Given the description of an element on the screen output the (x, y) to click on. 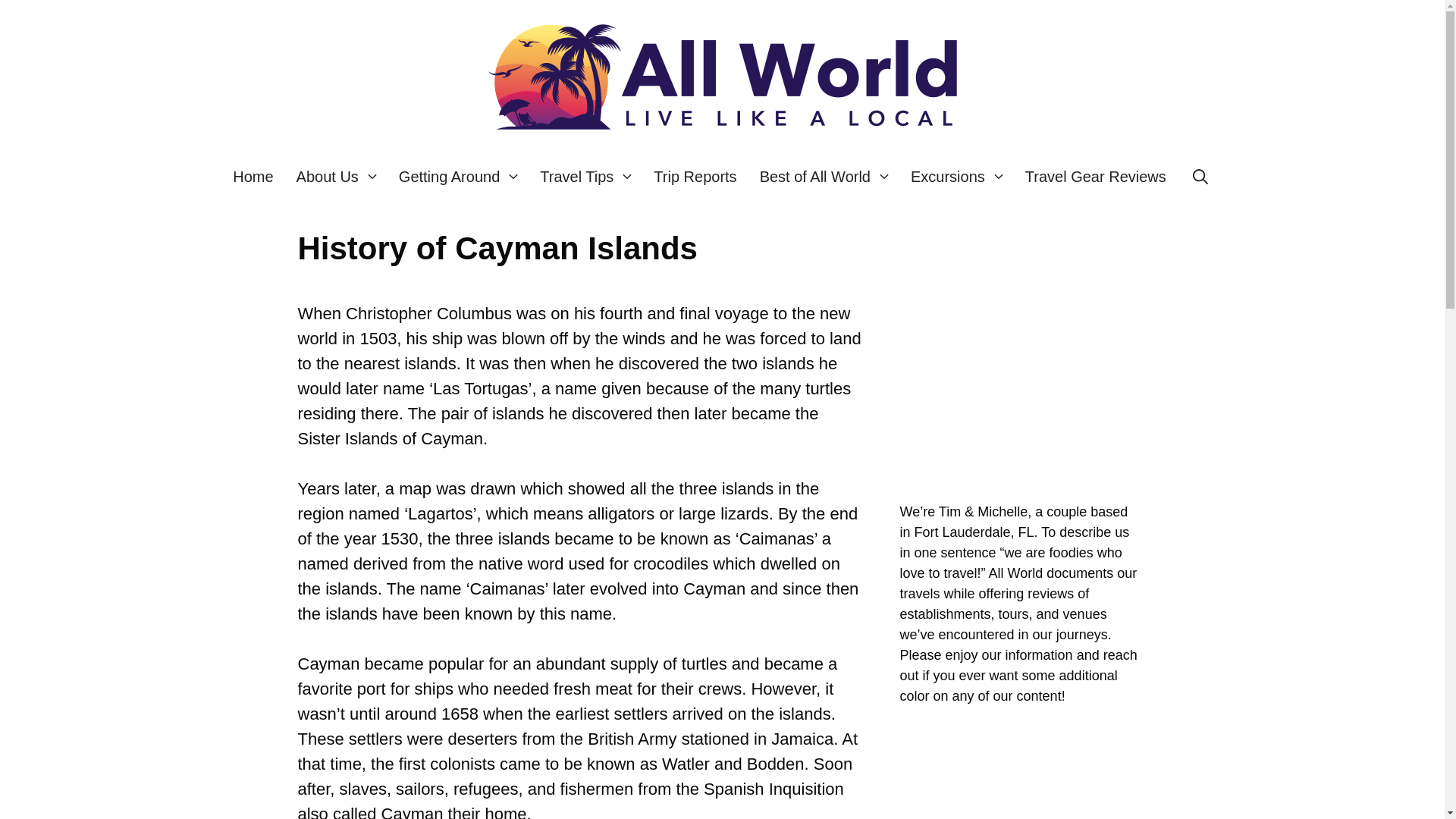
Getting Around (457, 176)
Travel Gear Reviews (1095, 176)
About Us (336, 176)
Travel Tips (585, 176)
Home (252, 176)
Excursions (956, 176)
Best of All World (823, 176)
Trip Reports (695, 176)
